Given the description of an element on the screen output the (x, y) to click on. 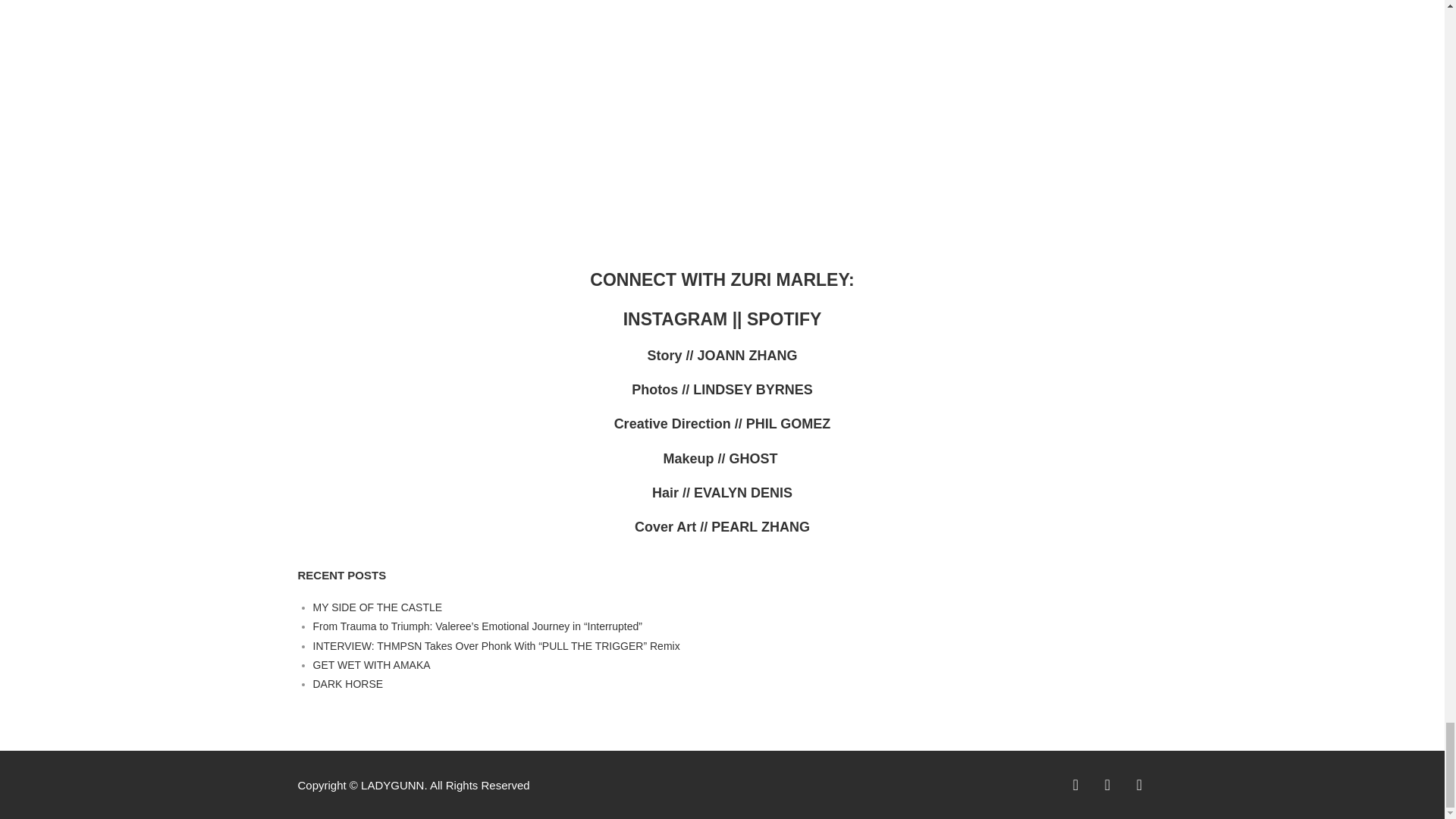
PHIL GOMEZ (788, 423)
EVALYN DENIS (743, 492)
LINDSEY BYRNES (752, 389)
DIVINE DEITIES (352, 625)
SPOTIFY (783, 319)
MY SIDE OF THE CASTLE (377, 645)
JOANN ZHANG (747, 355)
INSTAGRAM (677, 319)
GHOST  (755, 458)
